Given the description of an element on the screen output the (x, y) to click on. 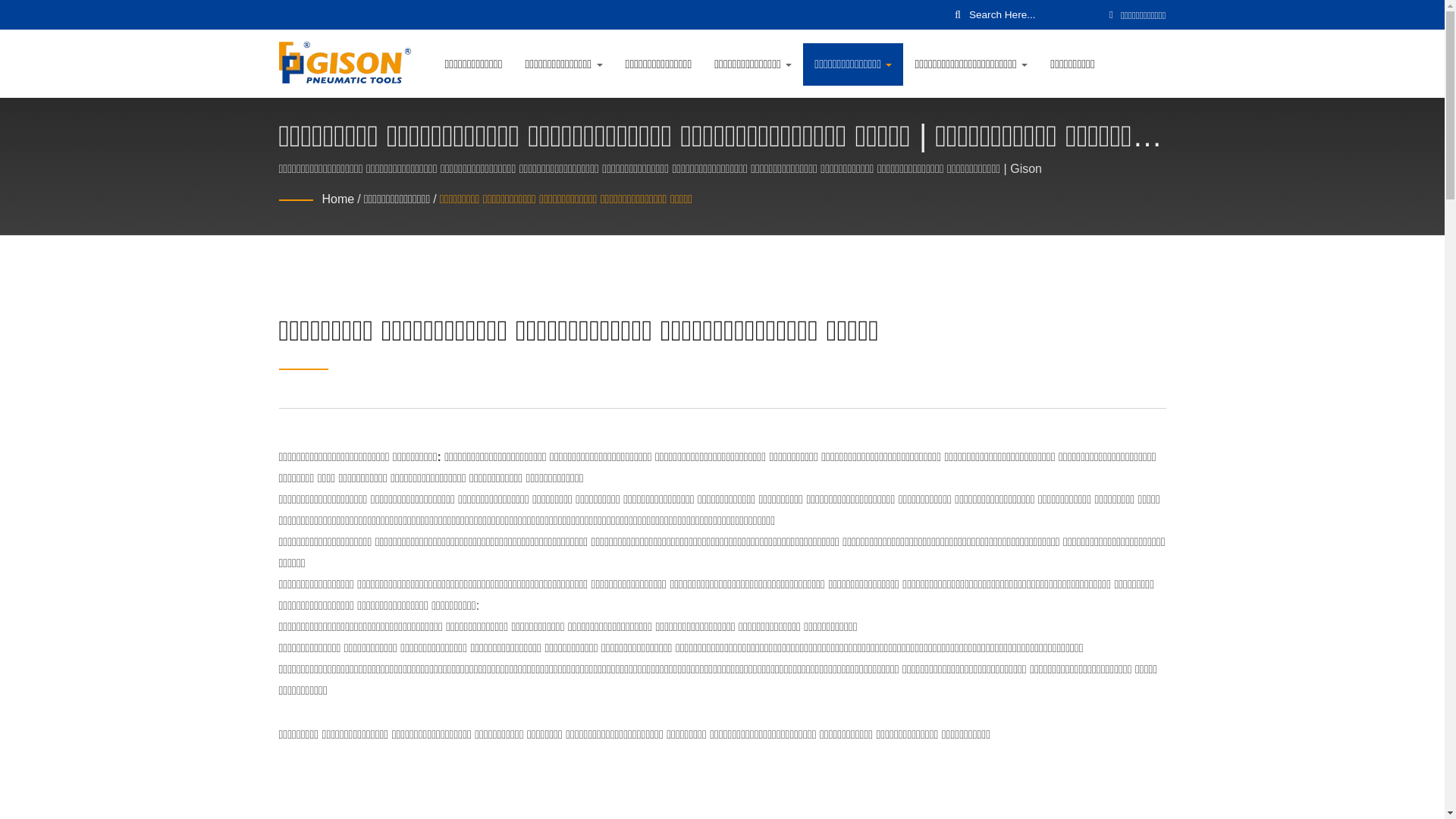
Search Here... (1033, 14)
